Given the description of an element on the screen output the (x, y) to click on. 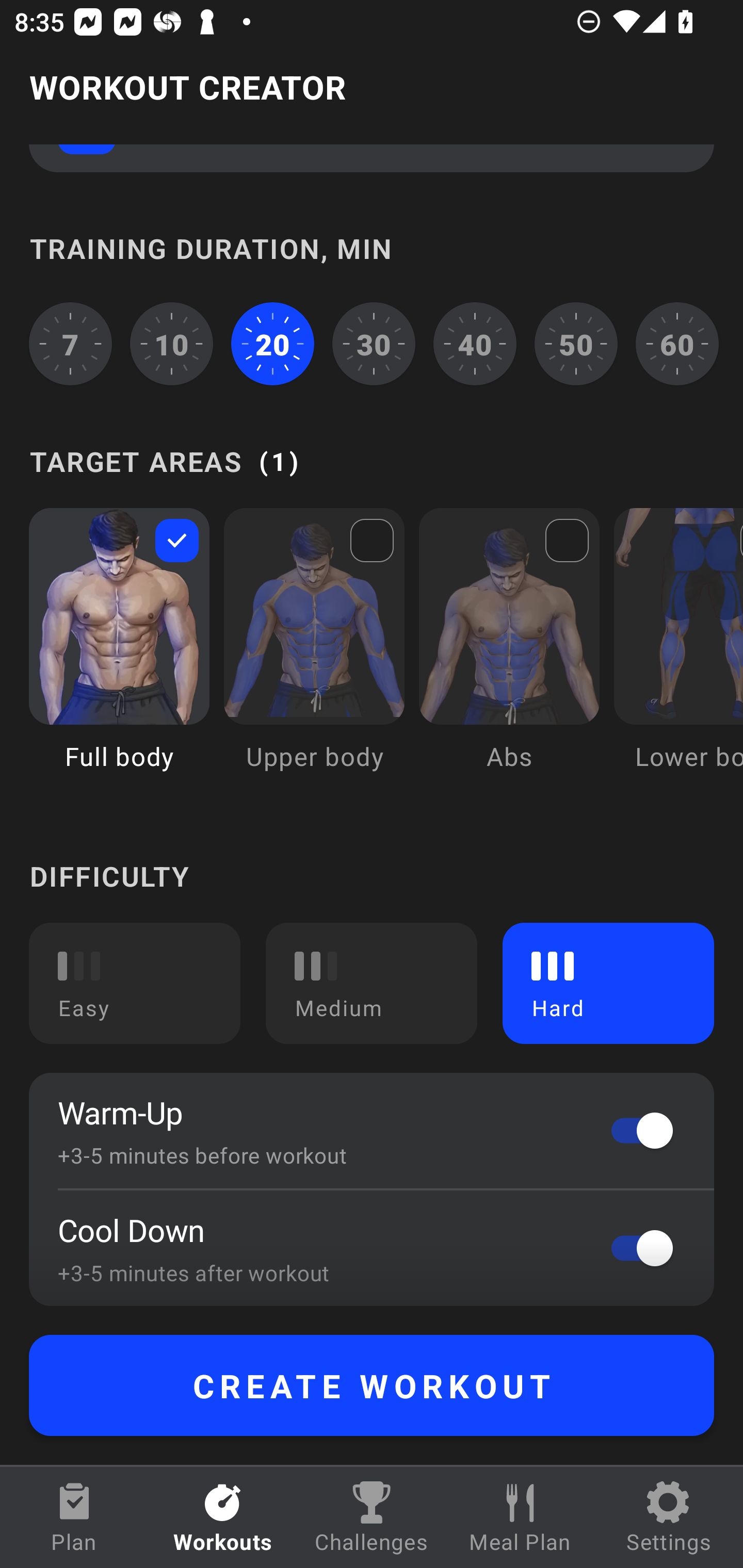
7 (70, 343)
10 (171, 343)
20 (272, 343)
30 (373, 343)
40 (474, 343)
50 (575, 343)
60 (676, 343)
Upper body (313, 653)
Abs (509, 653)
Lower body (678, 653)
Easy (134, 982)
Medium (371, 982)
CREATE WORKOUT (371, 1385)
 Plan  (74, 1517)
 Challenges  (371, 1517)
 Meal Plan  (519, 1517)
 Settings  (668, 1517)
